Given the description of an element on the screen output the (x, y) to click on. 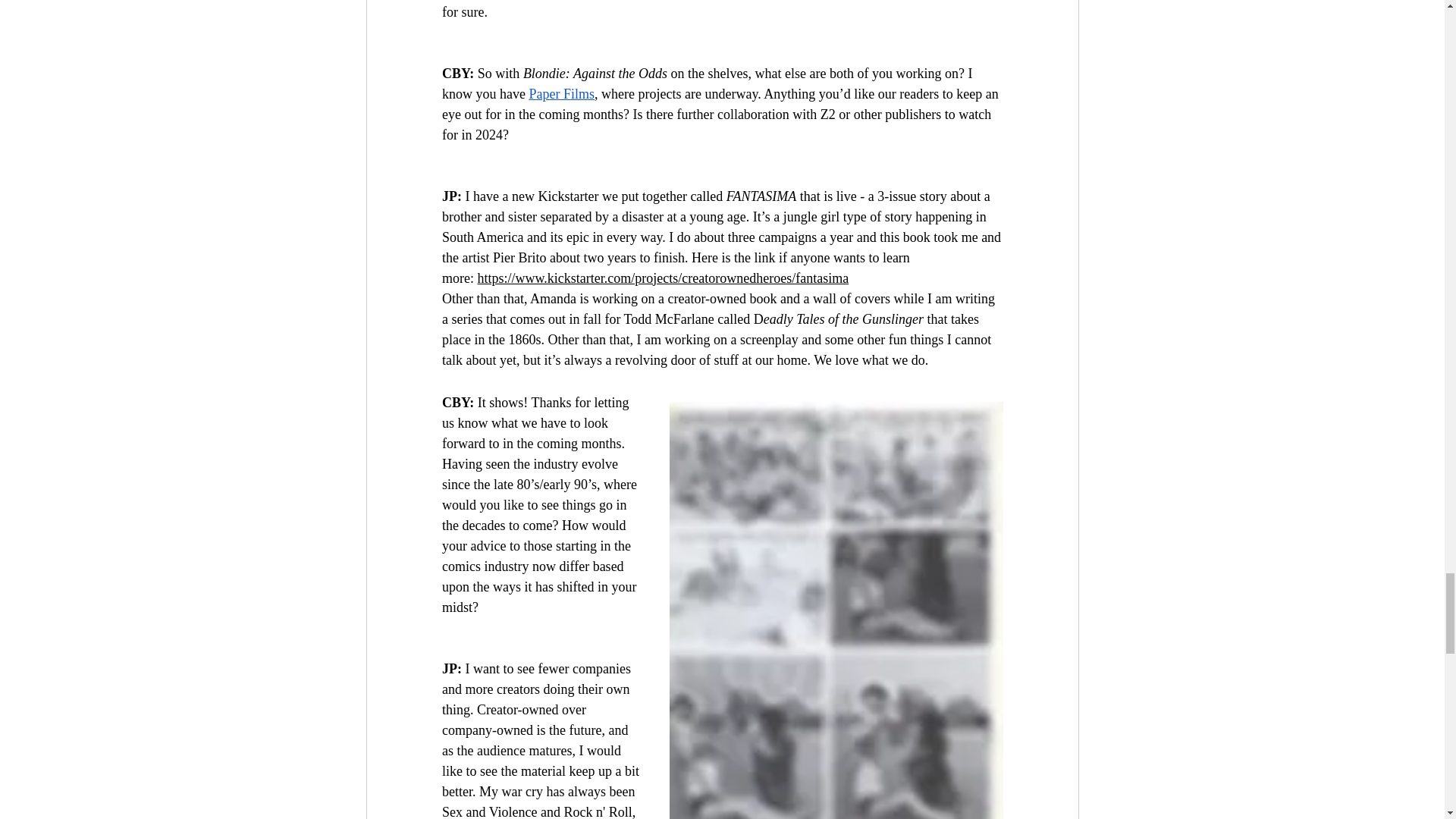
Paper Films (561, 93)
